Given the description of an element on the screen output the (x, y) to click on. 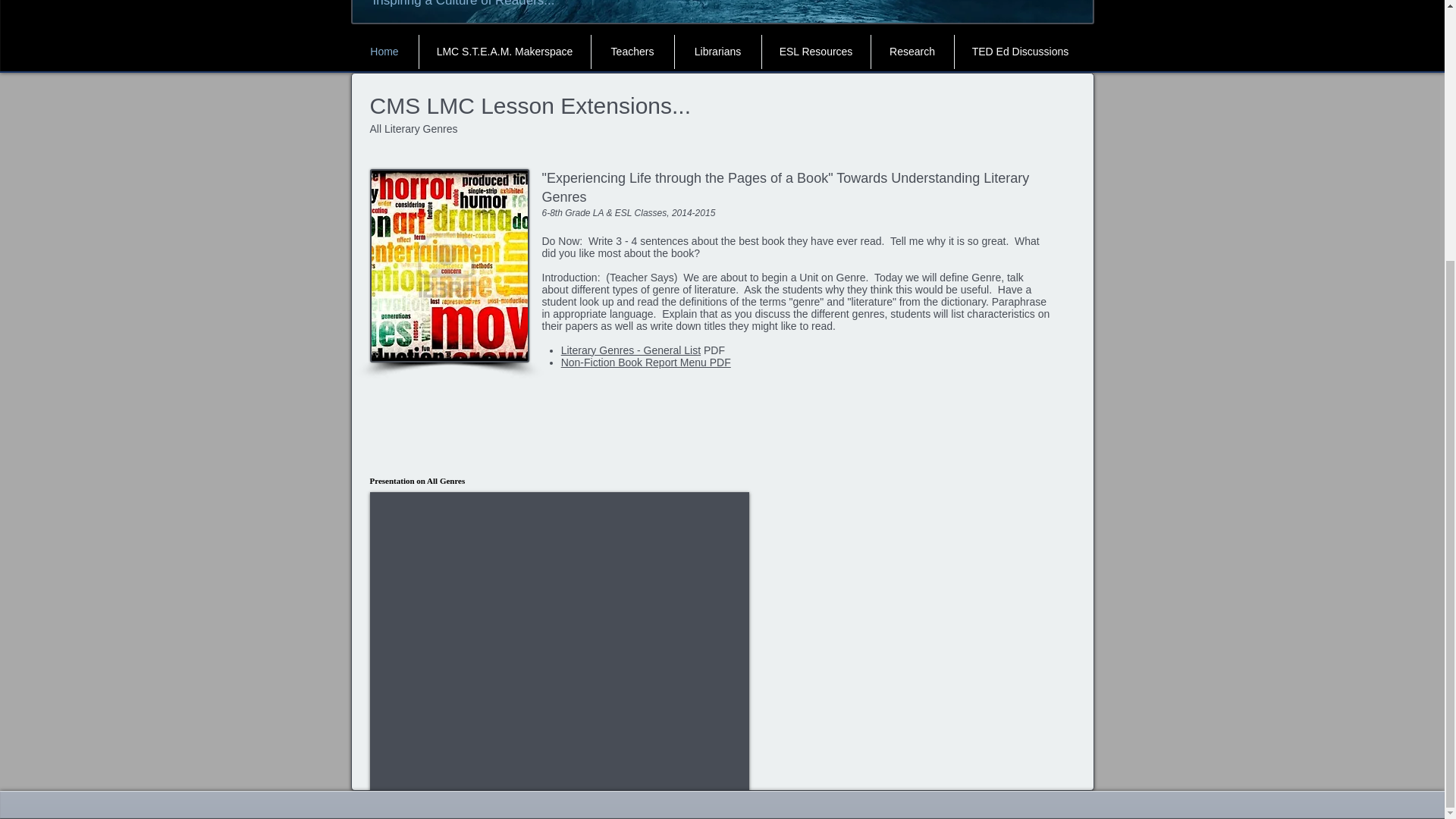
Home (383, 51)
Teachers (632, 51)
Librarians (718, 51)
TED Ed Discussions (1019, 51)
Research (911, 51)
ESL Resources (815, 51)
LMC S.T.E.A.M. Makerspace (504, 51)
Non-Fiction Book Report Menu PDF (645, 362)
Literary Genres - General List (630, 349)
External YouTube (559, 641)
